Given the description of an element on the screen output the (x, y) to click on. 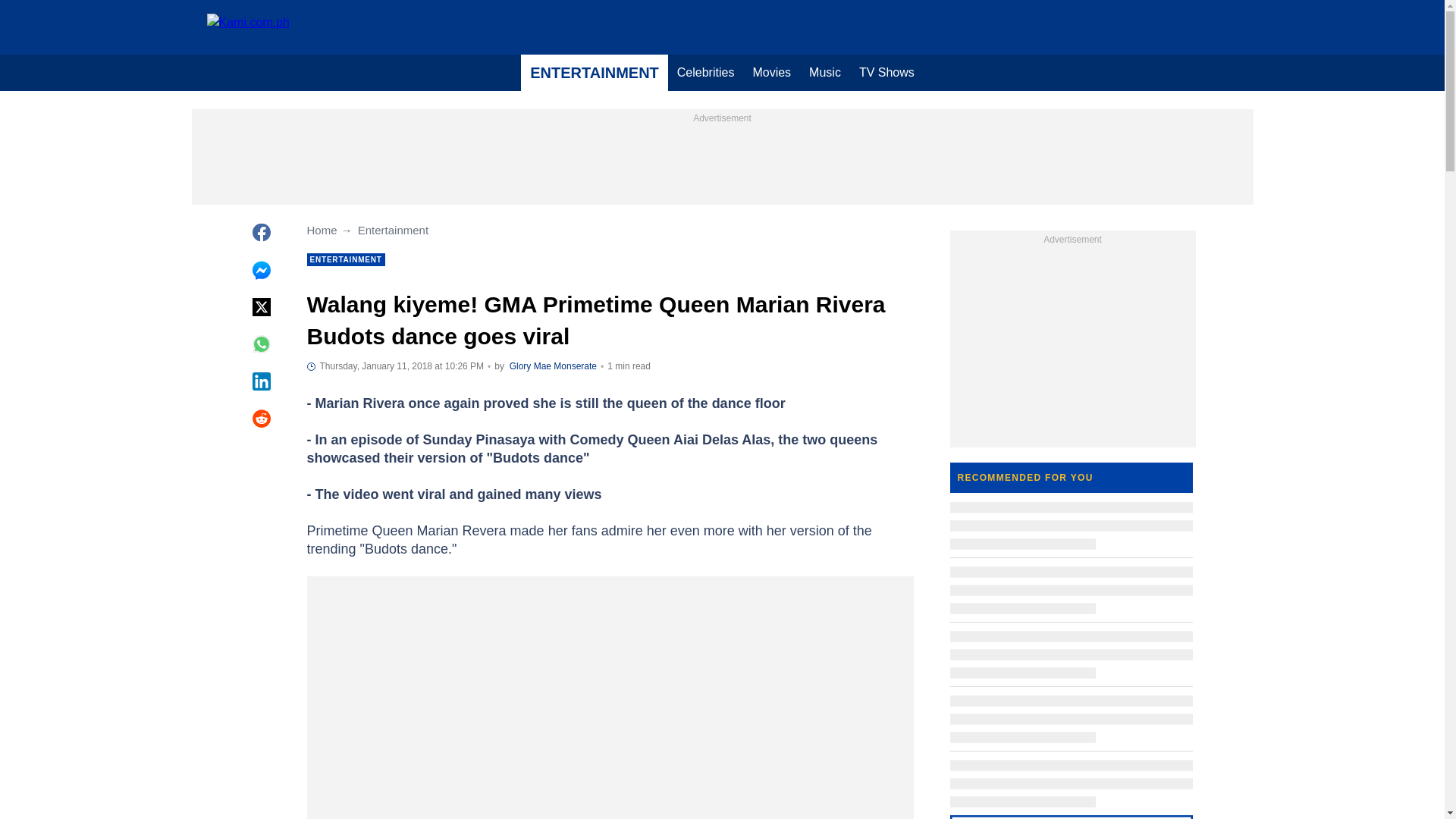
Celebrities (706, 72)
Music (824, 72)
Author page (552, 366)
TV Shows (886, 72)
Movies (770, 72)
ENTERTAINMENT (594, 72)
